Given the description of an element on the screen output the (x, y) to click on. 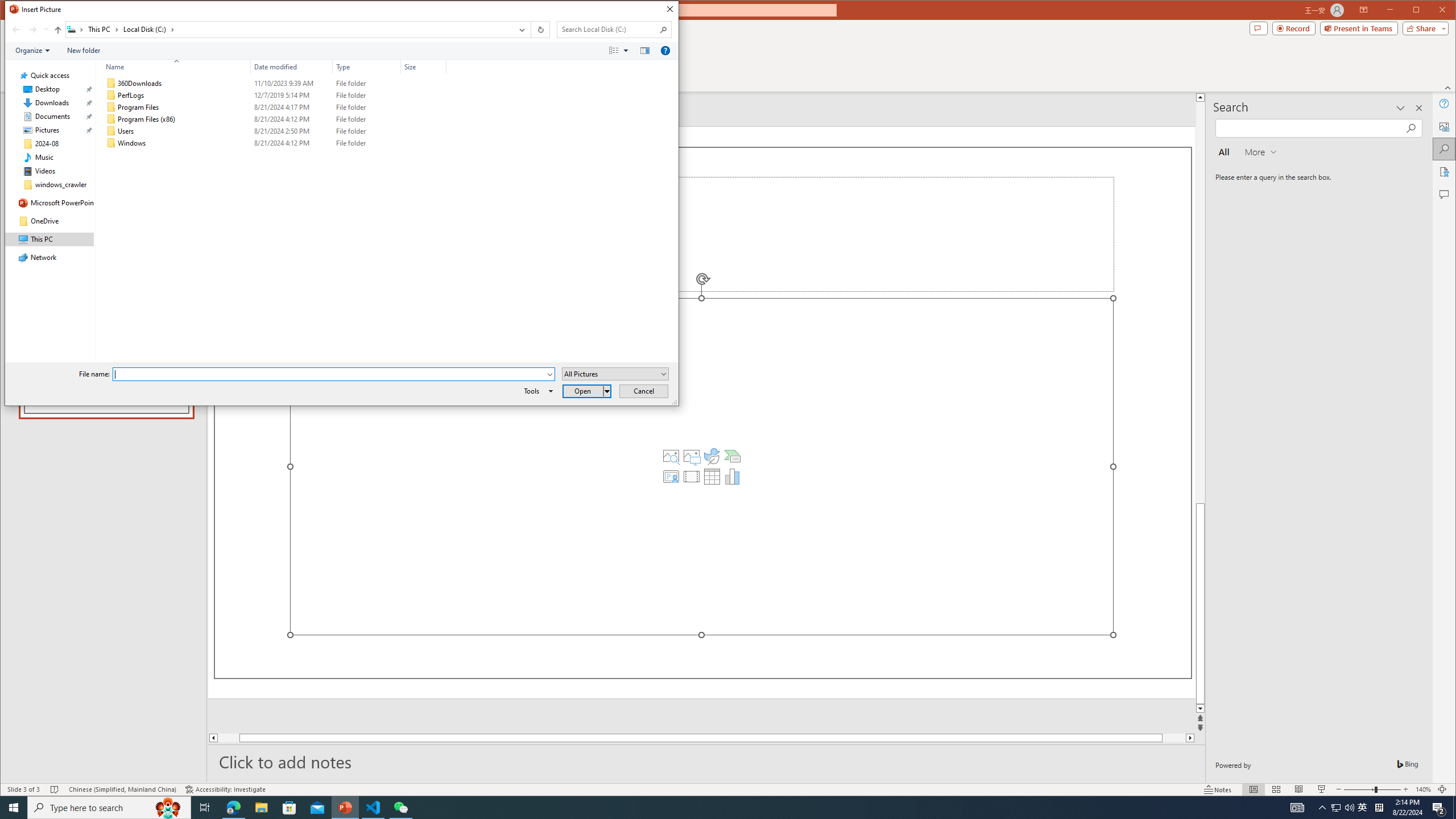
Recent locations (45, 29)
Organize (32, 50)
New folder (83, 50)
File name: (329, 374)
&Help (665, 50)
